Given the description of an element on the screen output the (x, y) to click on. 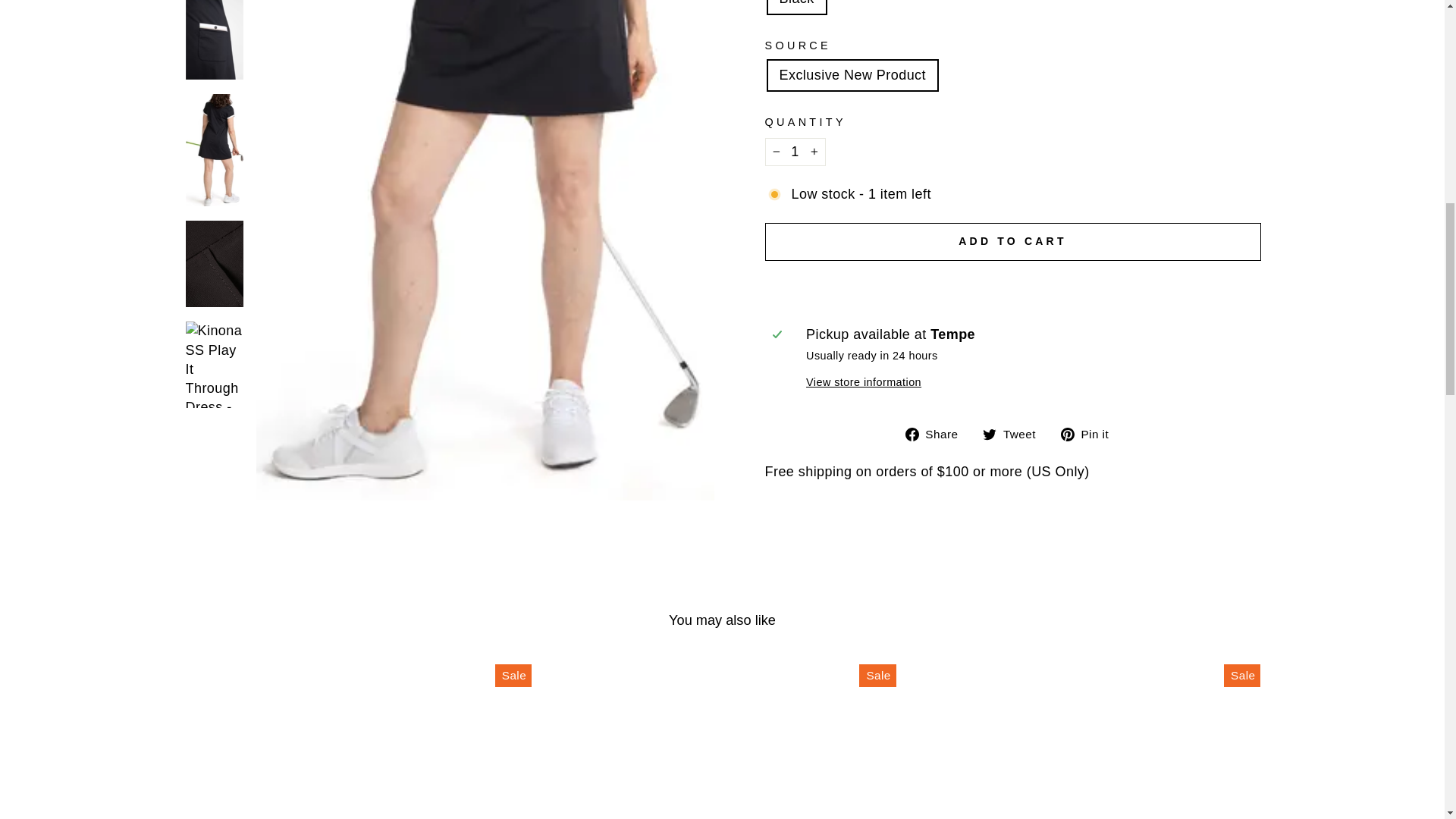
Share on Facebook (937, 434)
twitter (988, 434)
1 (794, 152)
Tweet on Twitter (1014, 434)
Pin on Pinterest (1090, 434)
